Given the description of an element on the screen output the (x, y) to click on. 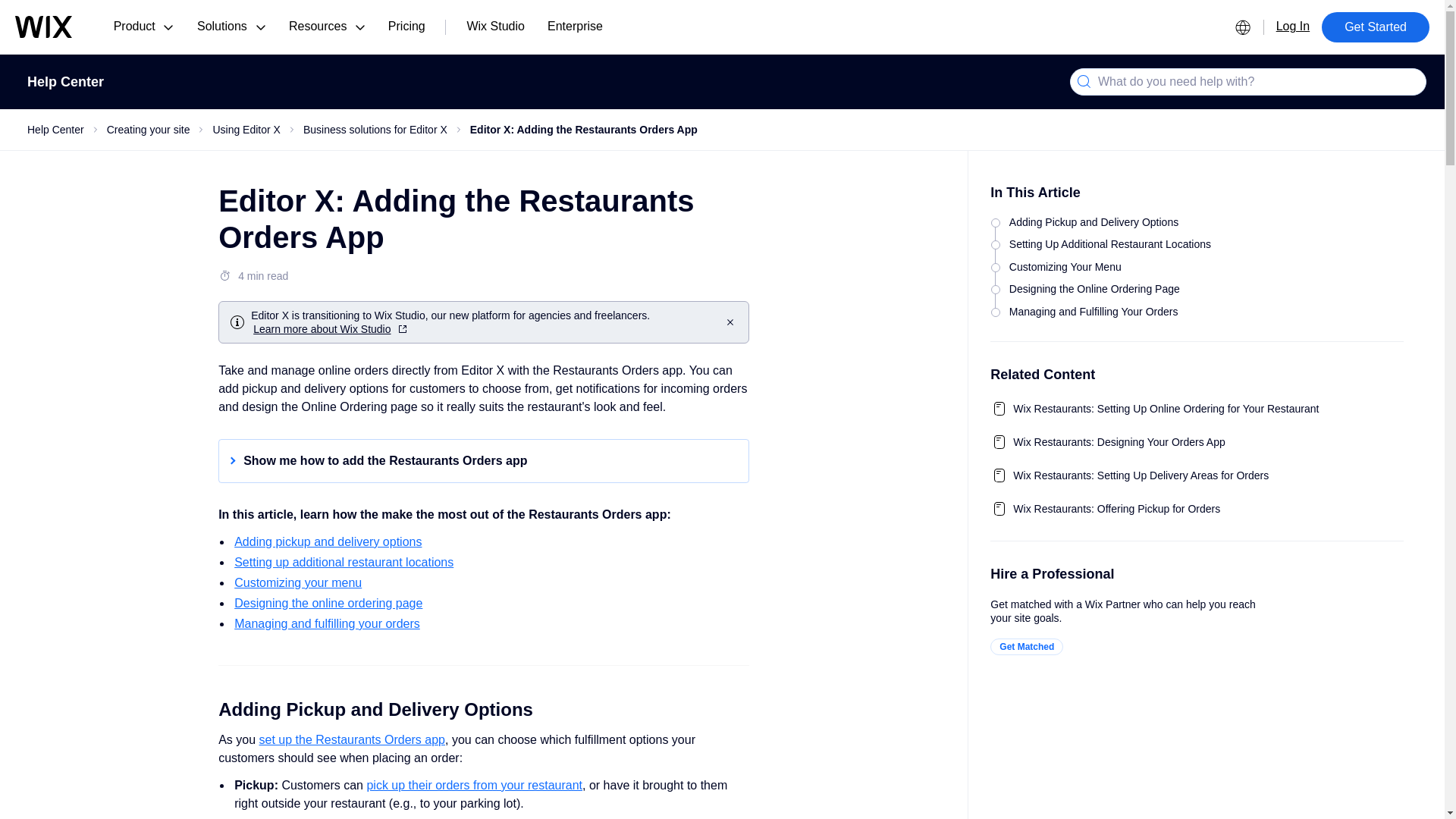
Wix (42, 26)
Pricing (406, 27)
Wix Studio (494, 27)
Product (142, 27)
Enterprise (574, 27)
Solutions (231, 27)
Resources (327, 27)
